Given the description of an element on the screen output the (x, y) to click on. 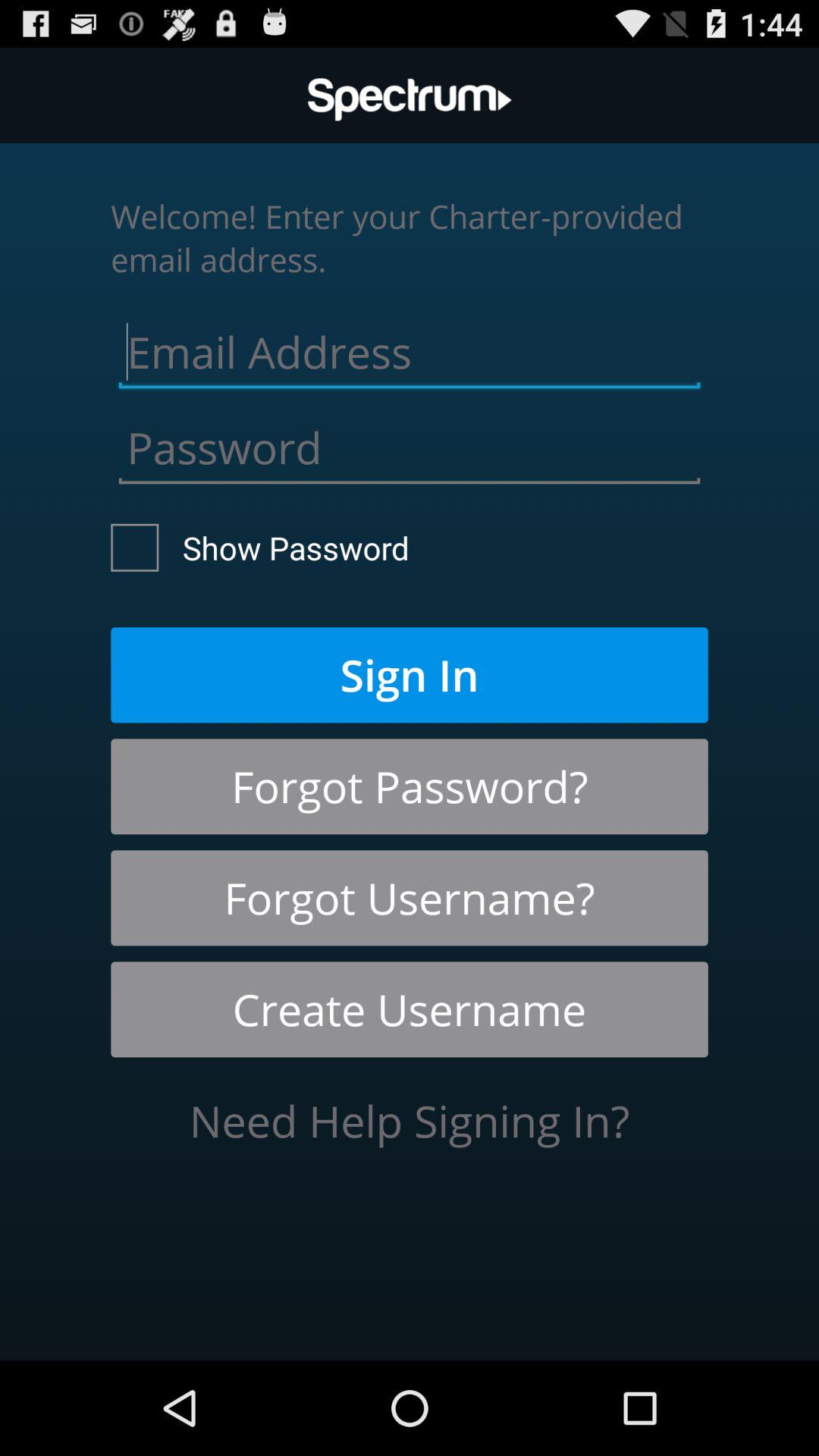
open the item below show password icon (409, 674)
